Given the description of an element on the screen output the (x, y) to click on. 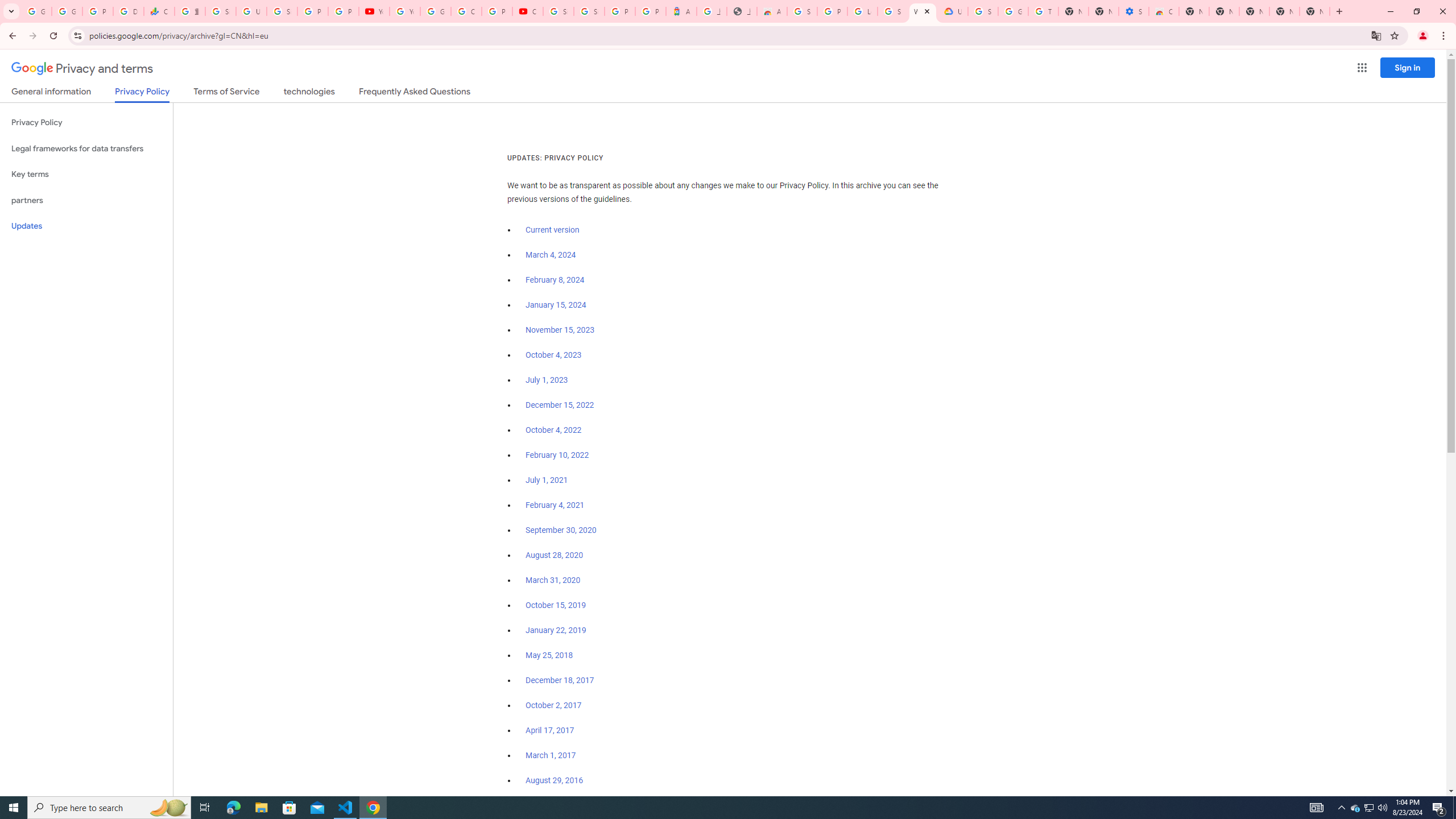
Minimize (1390, 11)
You (1422, 35)
Translate this page (1376, 35)
View site information (77, 35)
Reload (52, 35)
New Tab (1193, 11)
Sign in (1407, 67)
August 29, 2016 (553, 780)
Sign in - Google Accounts (220, 11)
